Given the description of an element on the screen output the (x, y) to click on. 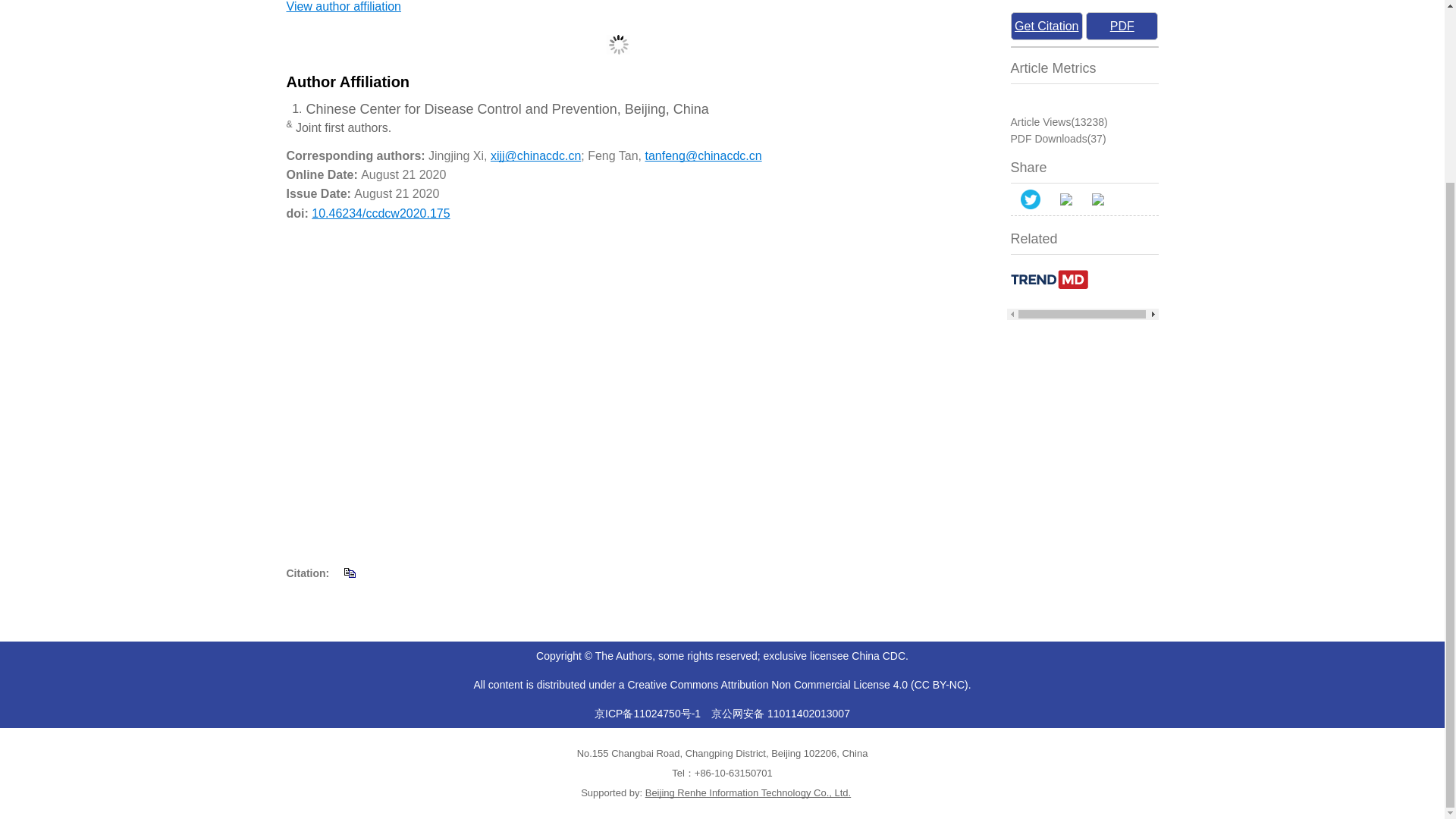
share this content in sina (1097, 199)
copy to clipboard (348, 571)
share this content in WeChat (1065, 199)
share this content in twitter (1029, 199)
